Given the description of an element on the screen output the (x, y) to click on. 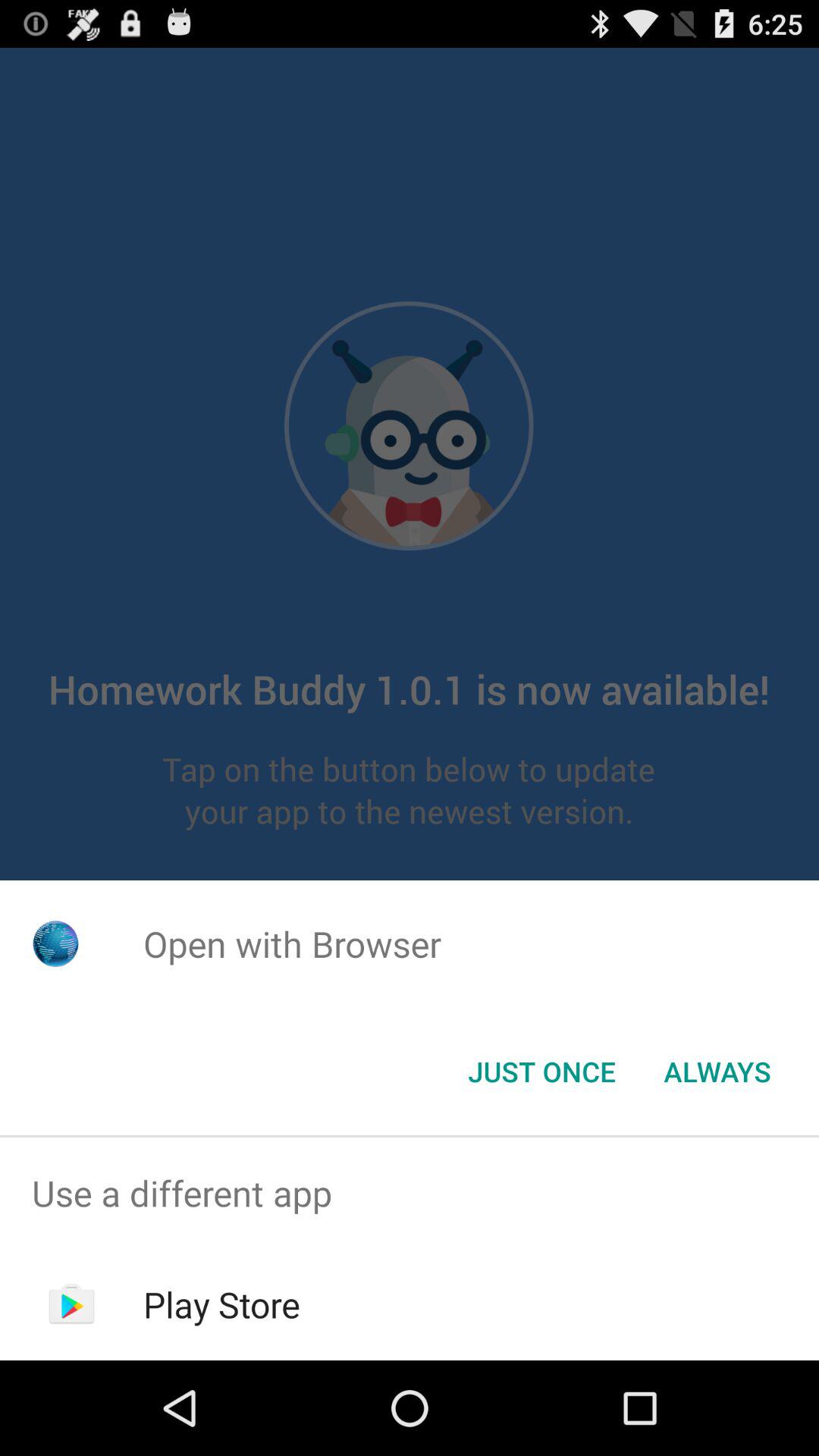
turn on the icon below open with browser icon (541, 1071)
